Given the description of an element on the screen output the (x, y) to click on. 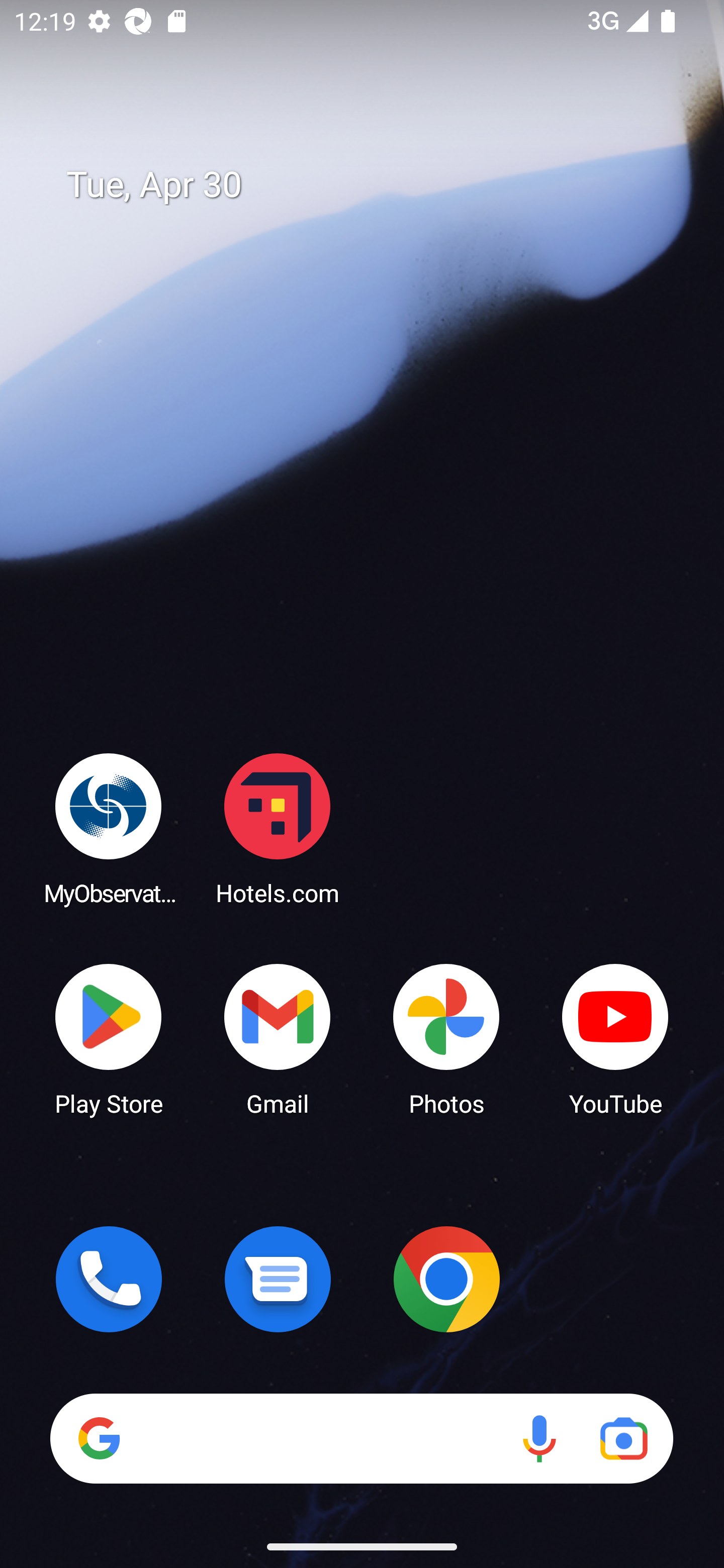
Tue, Apr 30 (375, 184)
MyObservatory (108, 828)
Hotels.com (277, 828)
Play Store (108, 1038)
Gmail (277, 1038)
Photos (445, 1038)
YouTube (615, 1038)
Phone (108, 1279)
Messages (277, 1279)
Chrome (446, 1279)
Voice search (539, 1438)
Google Lens (623, 1438)
